Given the description of an element on the screen output the (x, y) to click on. 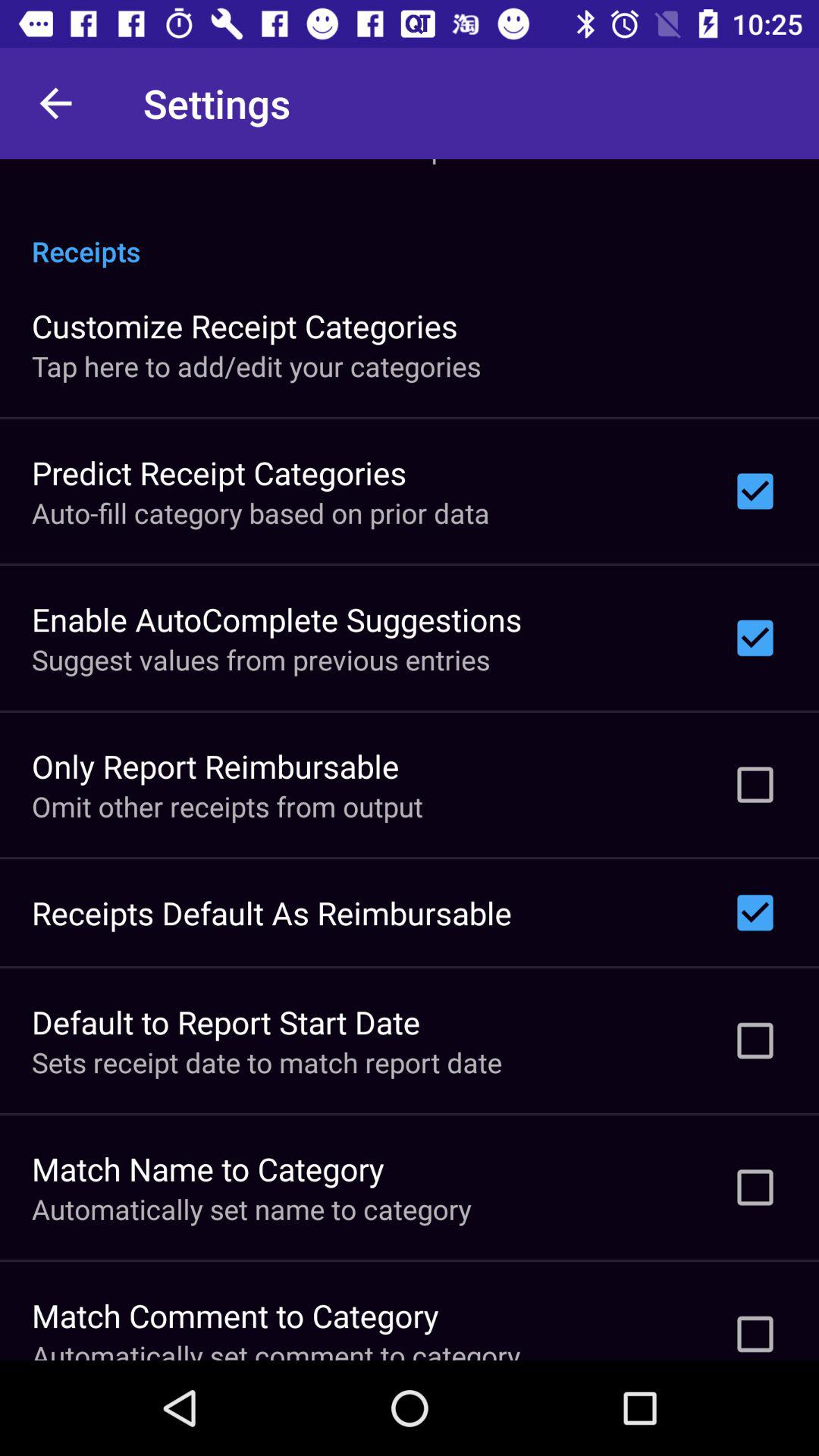
jump until the suggest values from (260, 659)
